Given the description of an element on the screen output the (x, y) to click on. 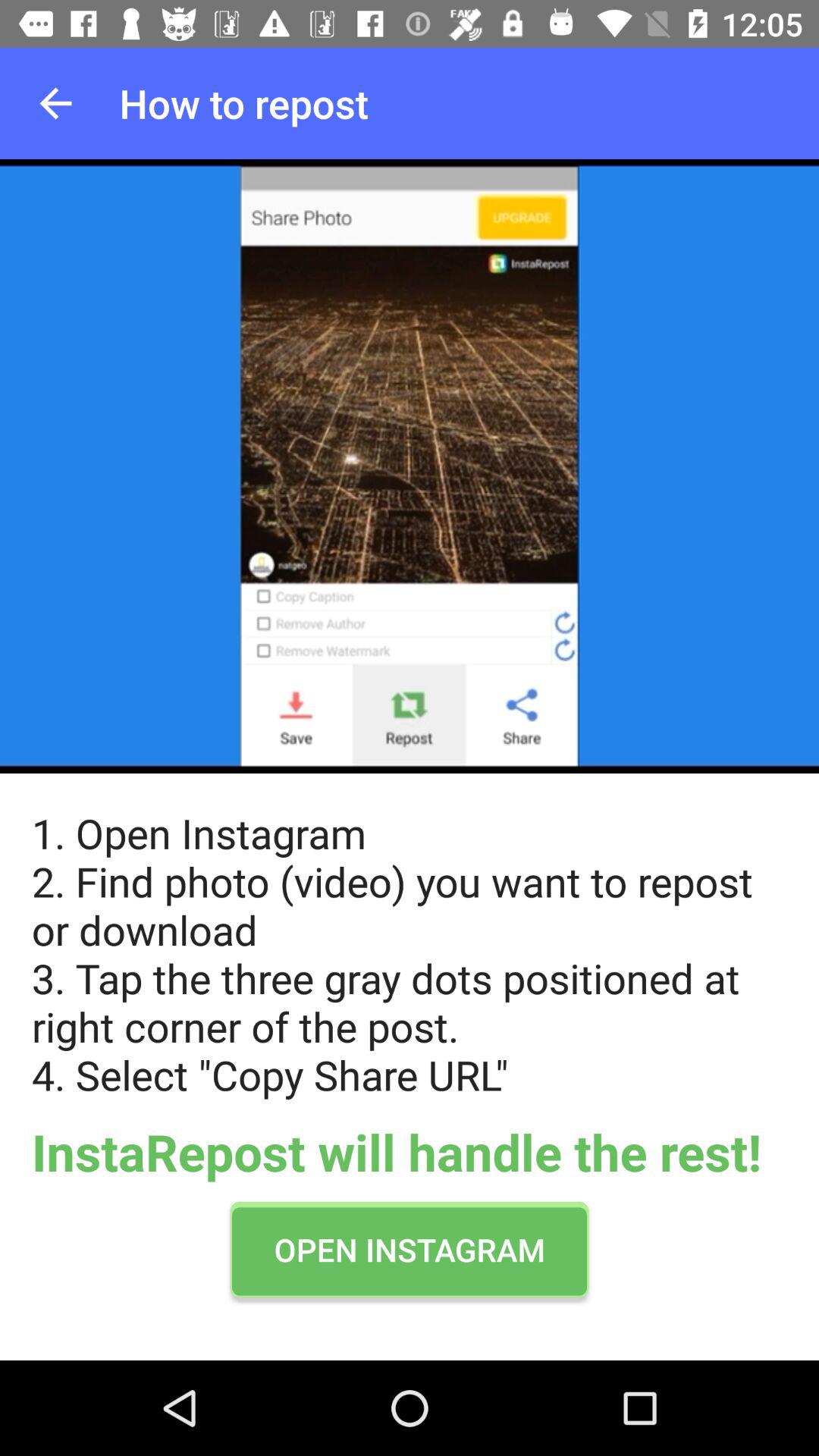
go back (55, 103)
